Given the description of an element on the screen output the (x, y) to click on. 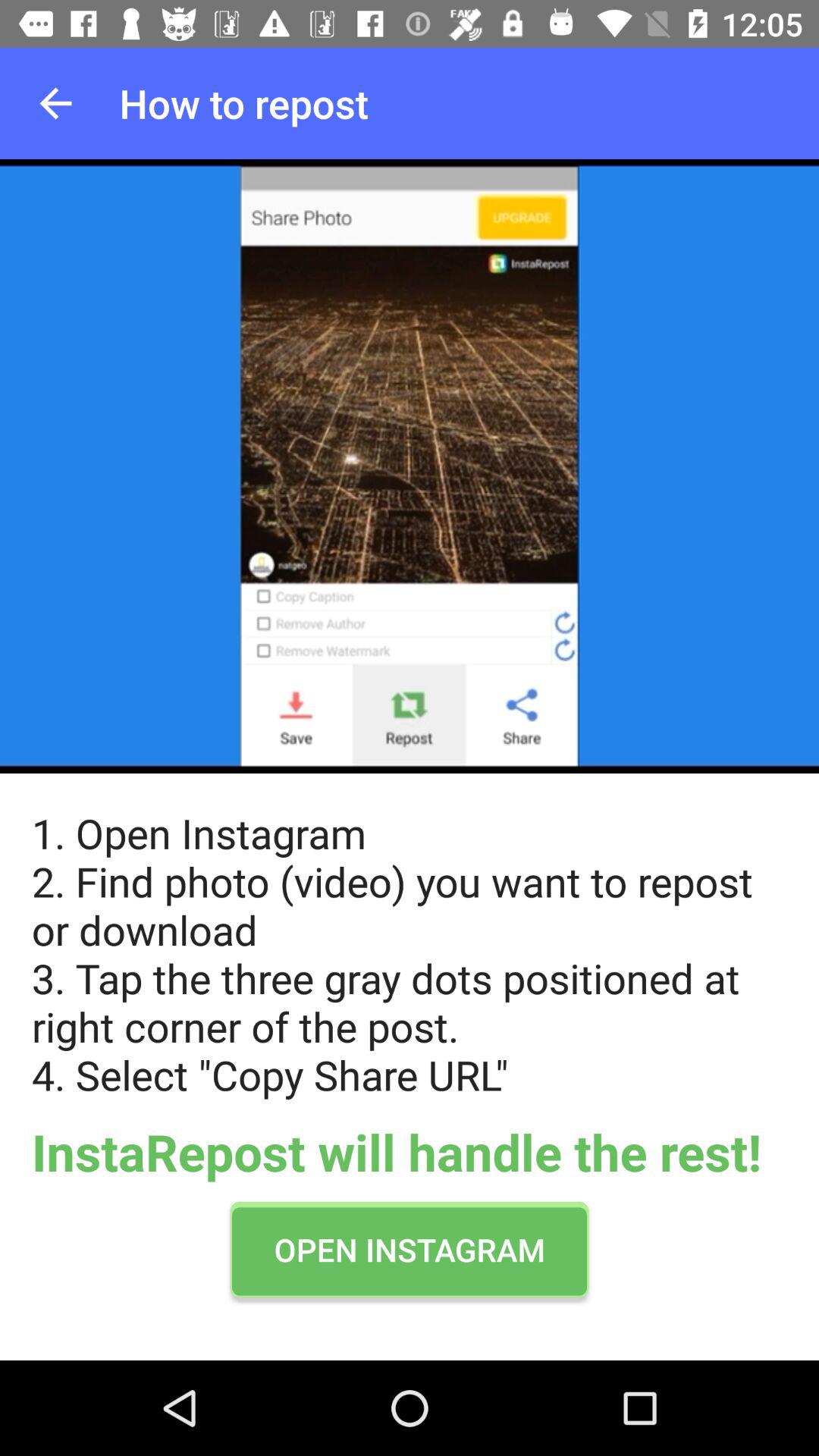
go back (55, 103)
